Given the description of an element on the screen output the (x, y) to click on. 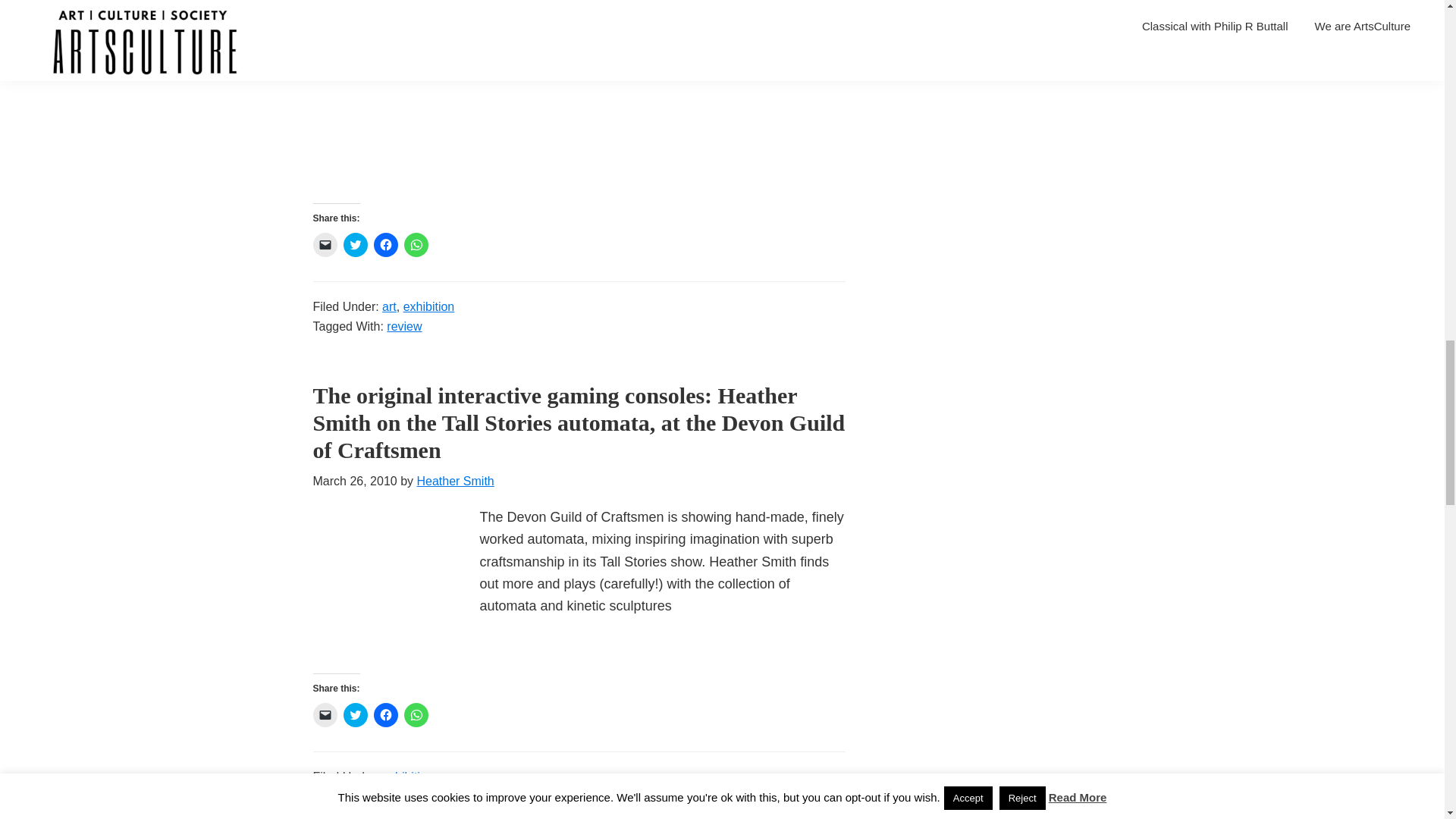
Click to share on Twitter (354, 714)
Click to share on WhatsApp (415, 244)
review (404, 326)
Click to share on Twitter (354, 244)
art (388, 306)
Click to email a link to a friend (324, 244)
Click to share on Facebook (384, 714)
Click to share on Facebook (384, 244)
exhibition (428, 306)
